Given the description of an element on the screen output the (x, y) to click on. 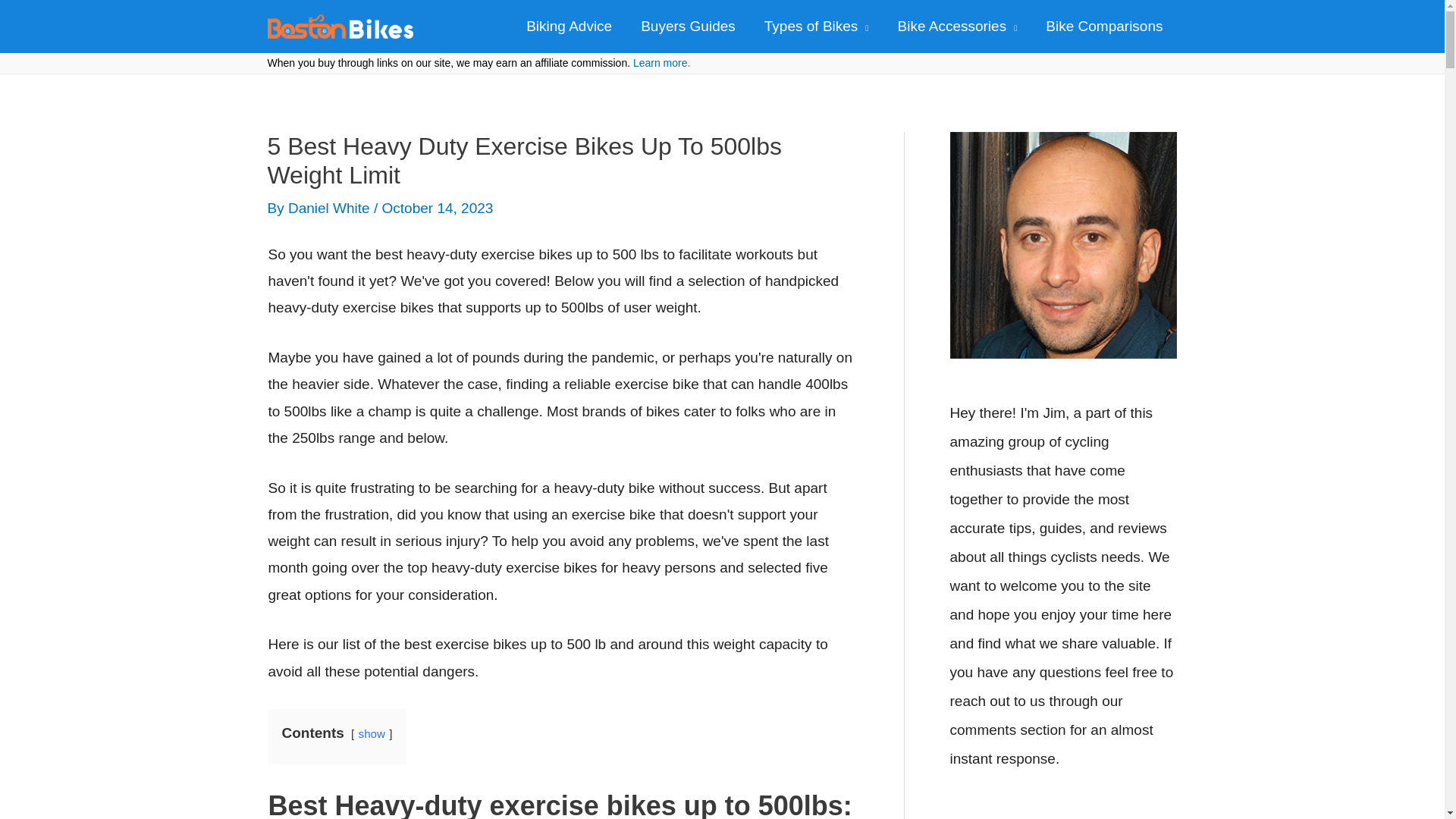
Biking Advice (569, 26)
Buyers Guides (687, 26)
View all posts by Daniel White (331, 207)
Bike Comparisons (1103, 26)
Bike Accessories (957, 26)
Learn more. (661, 62)
Types of Bikes (816, 26)
